Given the description of an element on the screen output the (x, y) to click on. 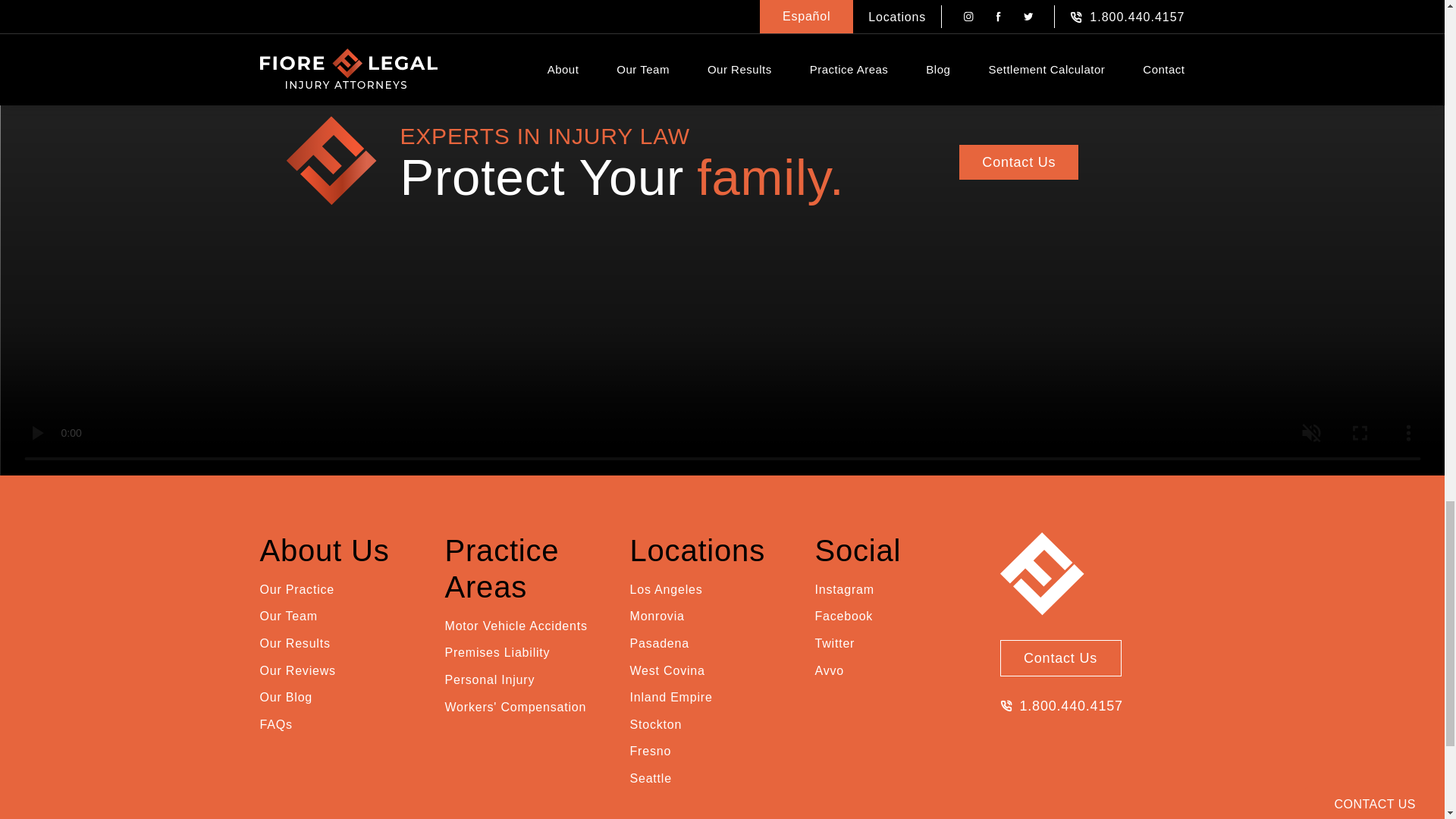
Fiore Legal on Avvo (828, 670)
Fiore Legal on Twitter (833, 643)
Fiore Legal on Instagram (843, 589)
Fiore Legal on Facebook (842, 616)
